Given the description of an element on the screen output the (x, y) to click on. 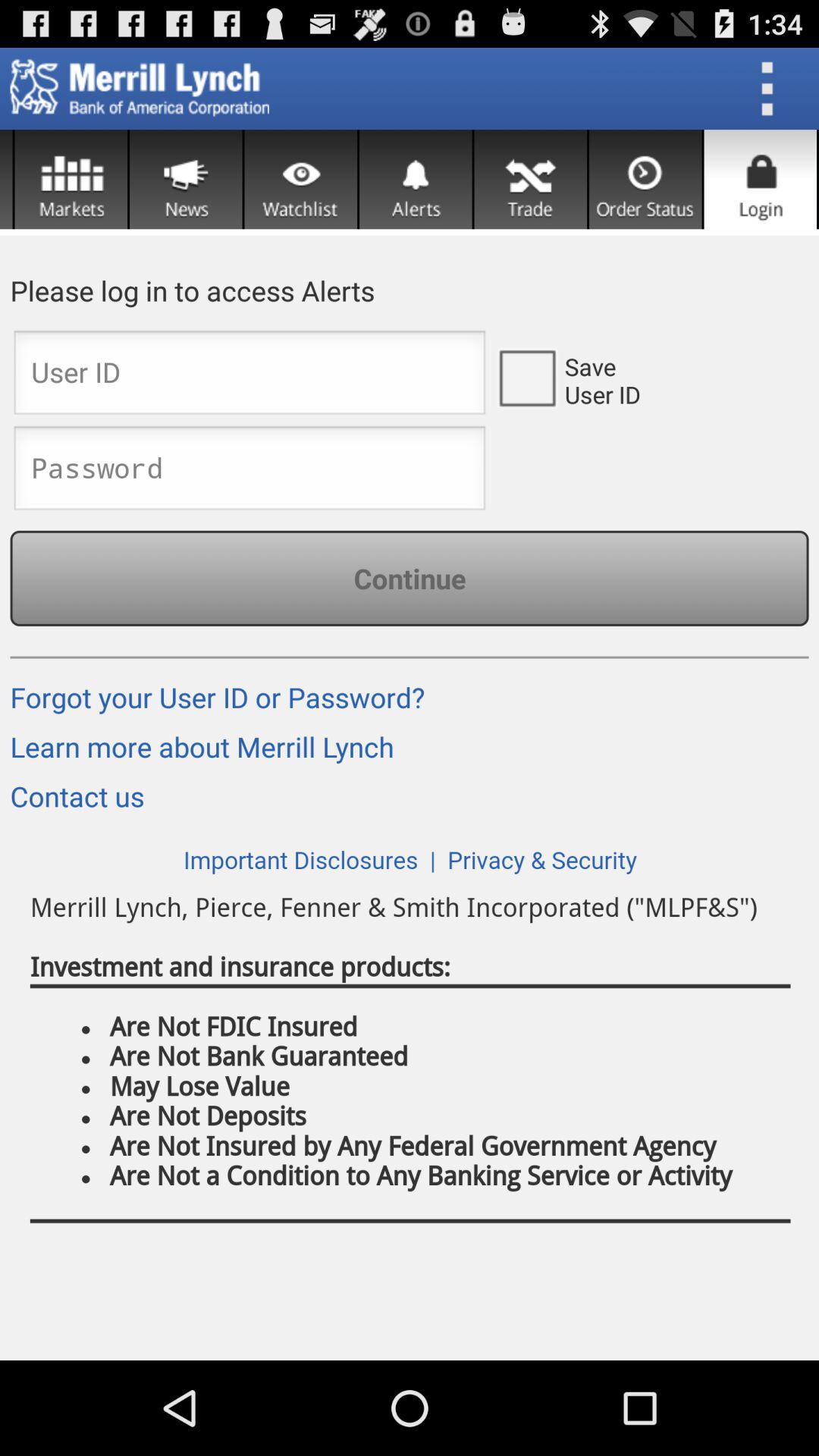
click on alerts button (415, 178)
click the trade button (531, 178)
select the image beside news (71, 178)
the box is beside to saver user id (526, 377)
click on the icon contact us (82, 802)
select the three dotted icon (771, 88)
